Given the description of an element on the screen output the (x, y) to click on. 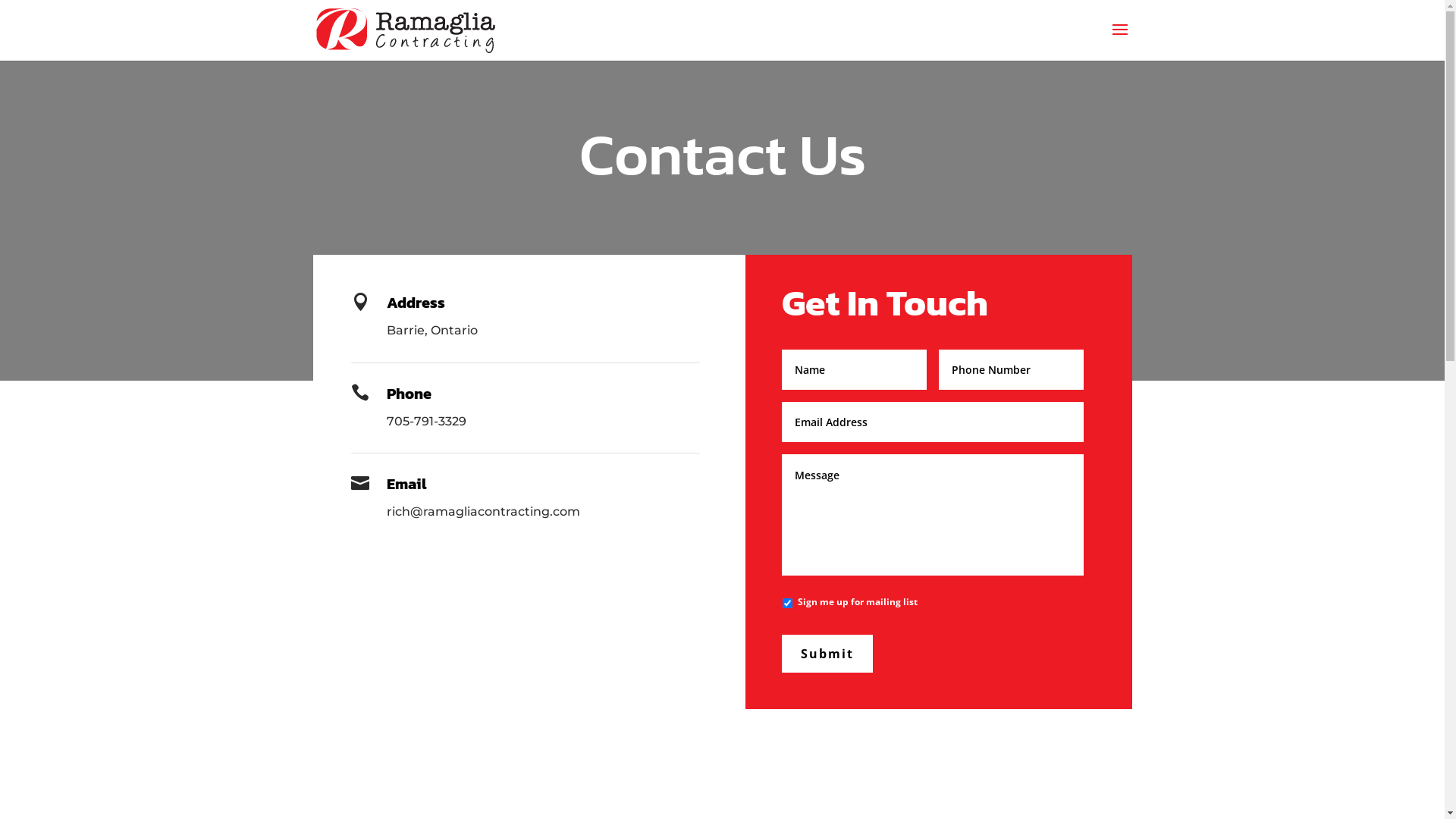
Submit Element type: text (826, 653)
